Given the description of an element on the screen output the (x, y) to click on. 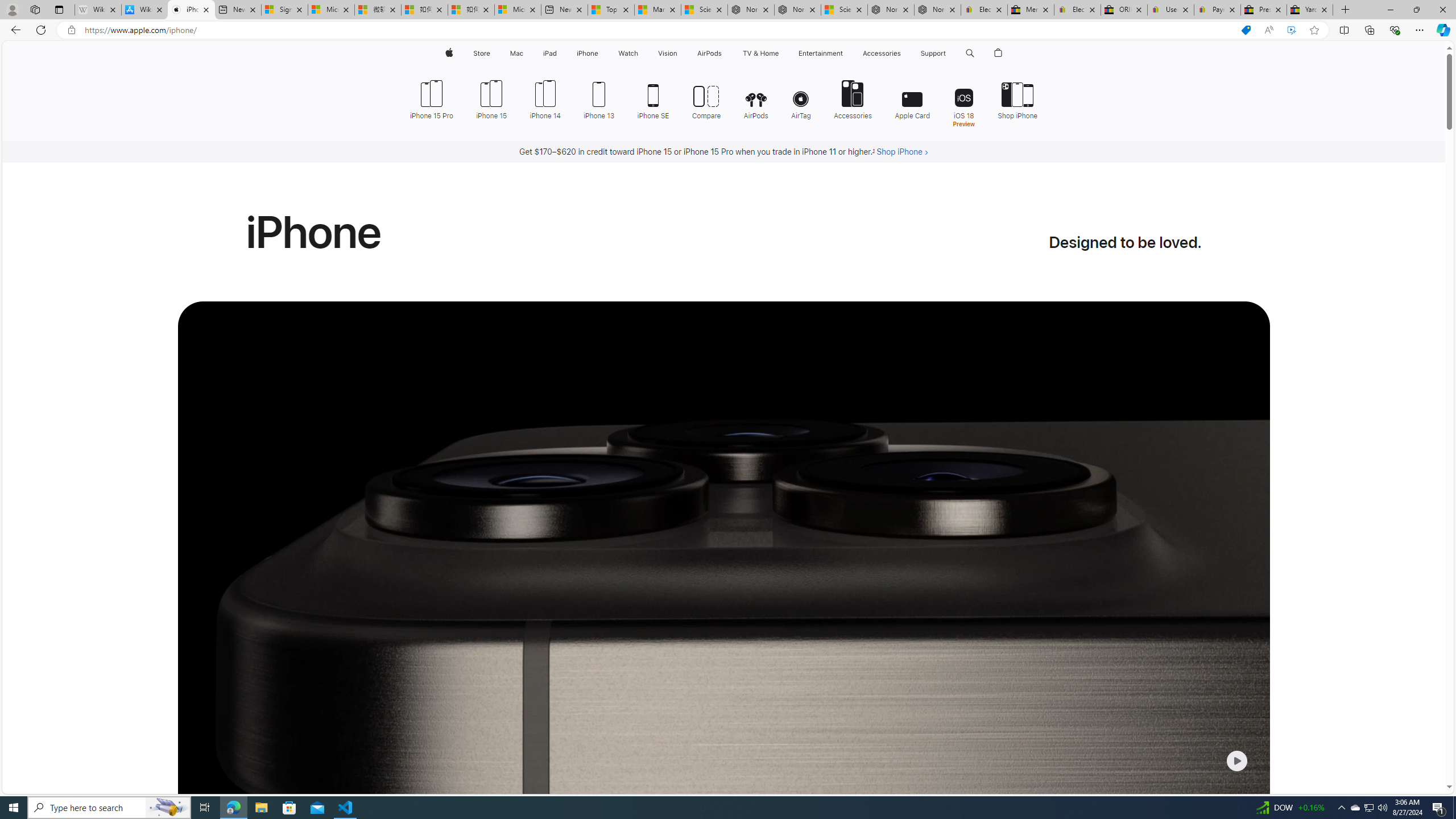
Apple Card (911, 98)
Class: control-centered-small-icon (1236, 760)
Vision menu (678, 53)
Search apple.com (969, 53)
iPhone 13 (599, 98)
Mac (516, 53)
AirPods (756, 98)
Microsoft account | Account Checkup (517, 9)
TV and Home menu (780, 53)
